Given the description of an element on the screen output the (x, y) to click on. 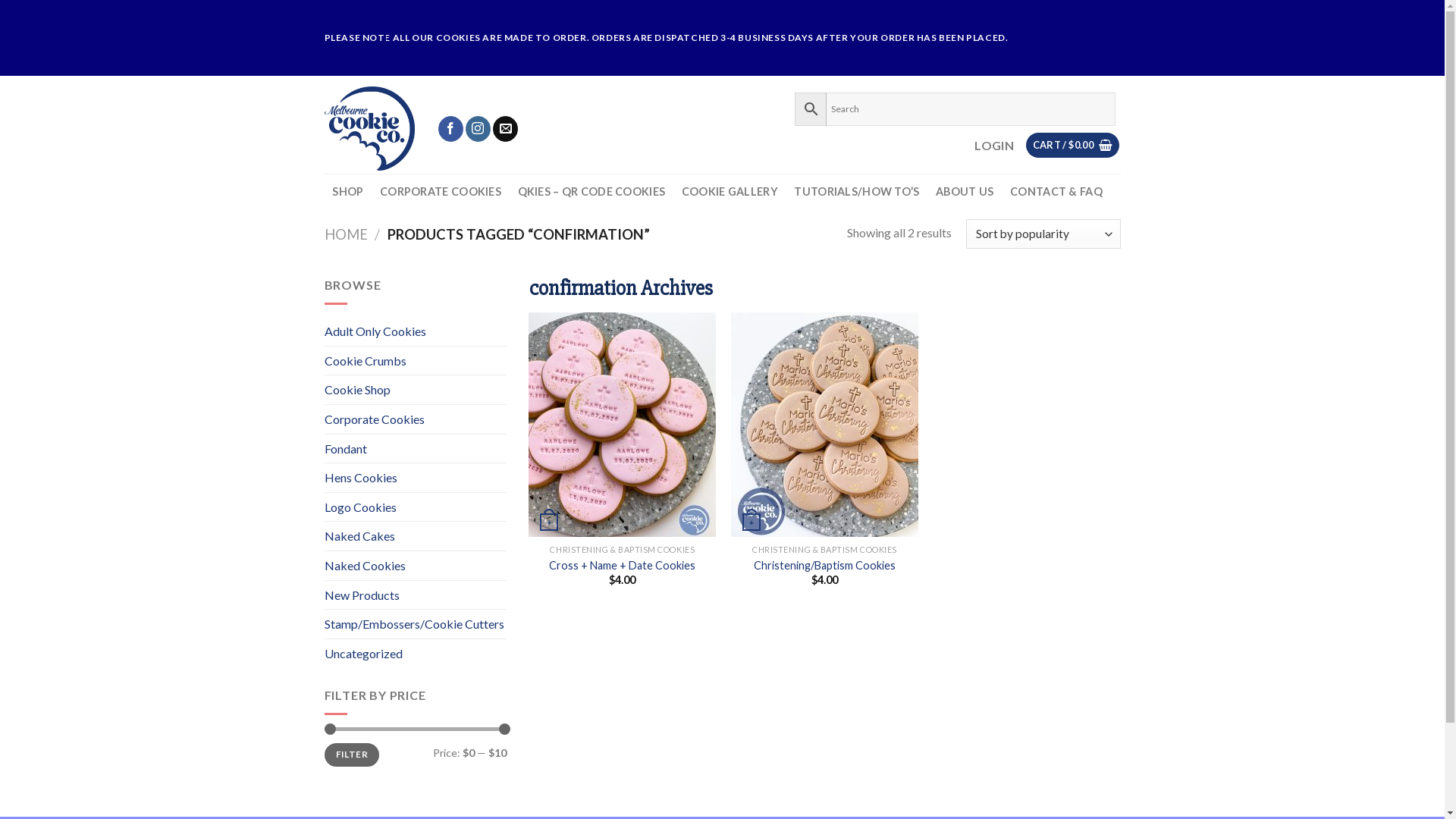
Stamp/Embossers/Cookie Cutters Element type: text (415, 623)
COOKIE GALLERY Element type: text (729, 191)
Cookie Shop Element type: text (415, 389)
Naked Cakes Element type: text (415, 535)
Christening/Baptism Cookies Element type: text (824, 565)
Logo Cookies Element type: text (415, 506)
Adult Only Cookies Element type: text (415, 330)
SHOP Element type: text (348, 191)
CART / $0.00 Element type: text (1072, 144)
Cookie Crumbs Element type: text (415, 360)
Send us an email Element type: hover (504, 128)
Cross + Name + Date Cookies Element type: text (622, 565)
ABOUT US Element type: text (964, 191)
CONTACT & FAQ Element type: text (1055, 191)
CORPORATE COOKIES Element type: text (440, 191)
Follow on Facebook Element type: hover (450, 128)
LOGIN Element type: text (993, 145)
FILTER Element type: text (351, 754)
Uncategorized Element type: text (415, 653)
New Products Element type: text (415, 594)
Corporate Cookies Element type: text (415, 418)
HOME Element type: text (345, 233)
Fondant Element type: text (415, 448)
Follow on Instagram Element type: hover (477, 128)
Hens Cookies Element type: text (415, 477)
Melbourne Cookie Co - Delivering Smiles Across Australia Element type: hover (369, 128)
Naked Cookies Element type: text (415, 565)
